Given the description of an element on the screen output the (x, y) to click on. 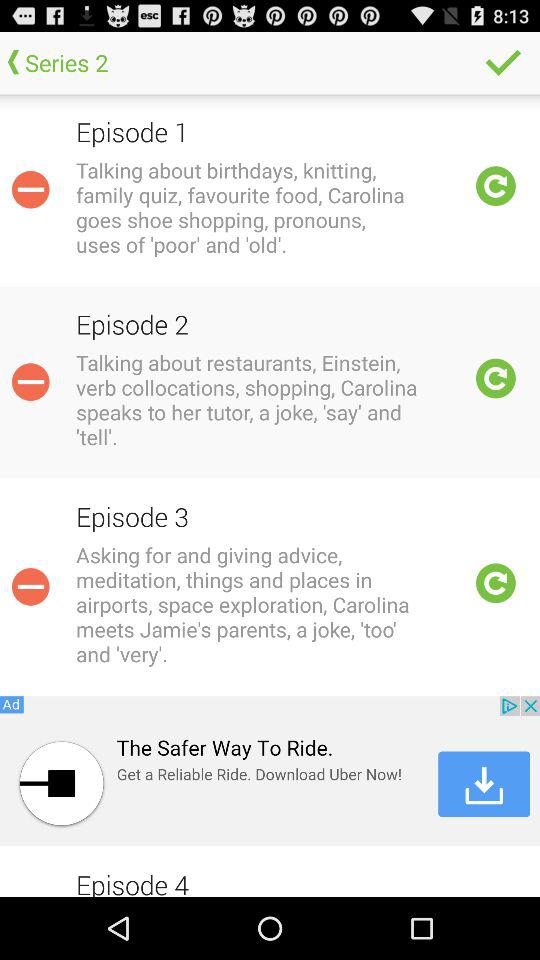
refresh button (496, 378)
